Given the description of an element on the screen output the (x, y) to click on. 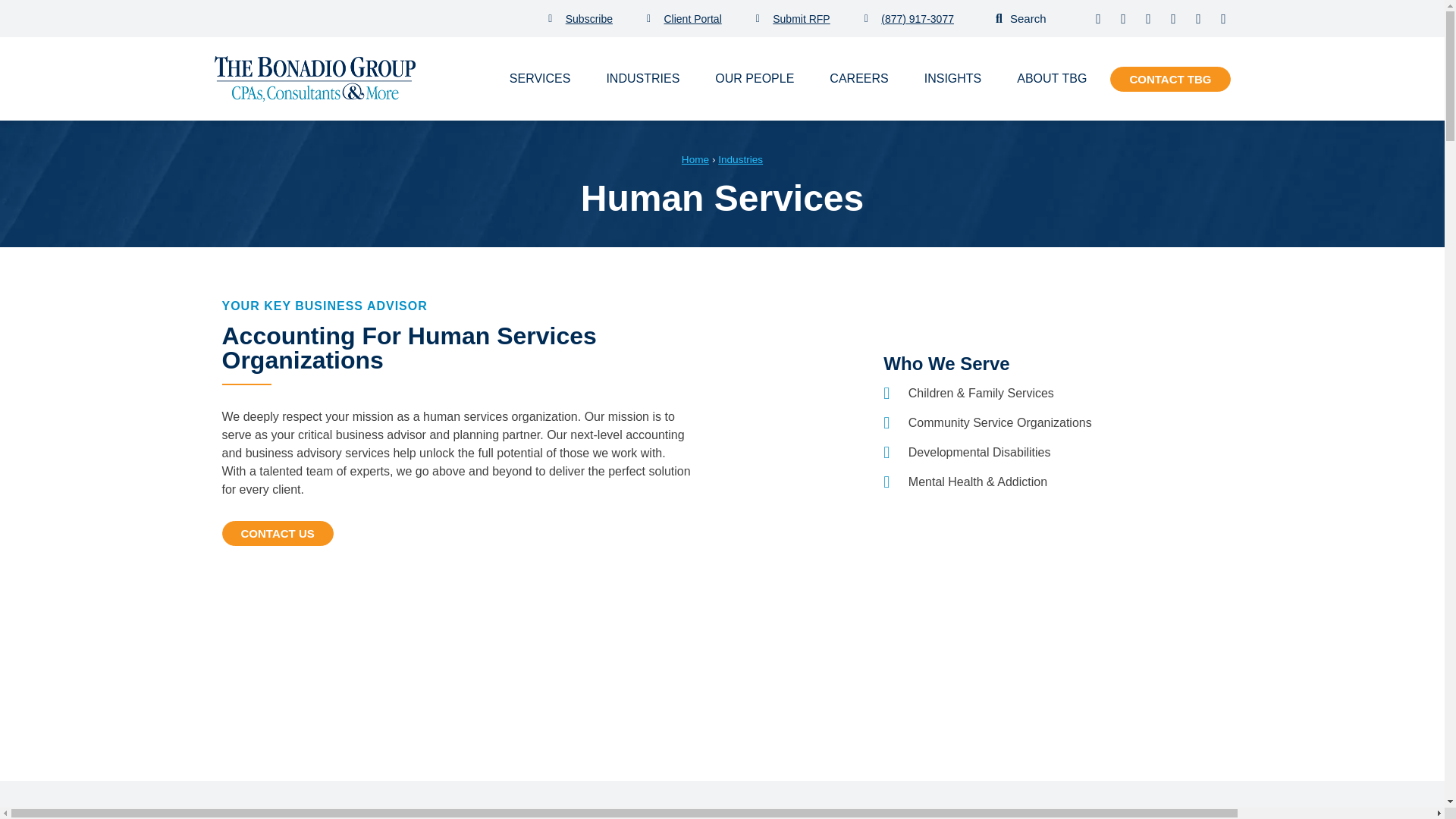
INDUSTRIES (642, 78)
SERVICES (539, 78)
Submit RFP (792, 18)
Subscribe (580, 18)
Client Portal (684, 18)
